Given the description of an element on the screen output the (x, y) to click on. 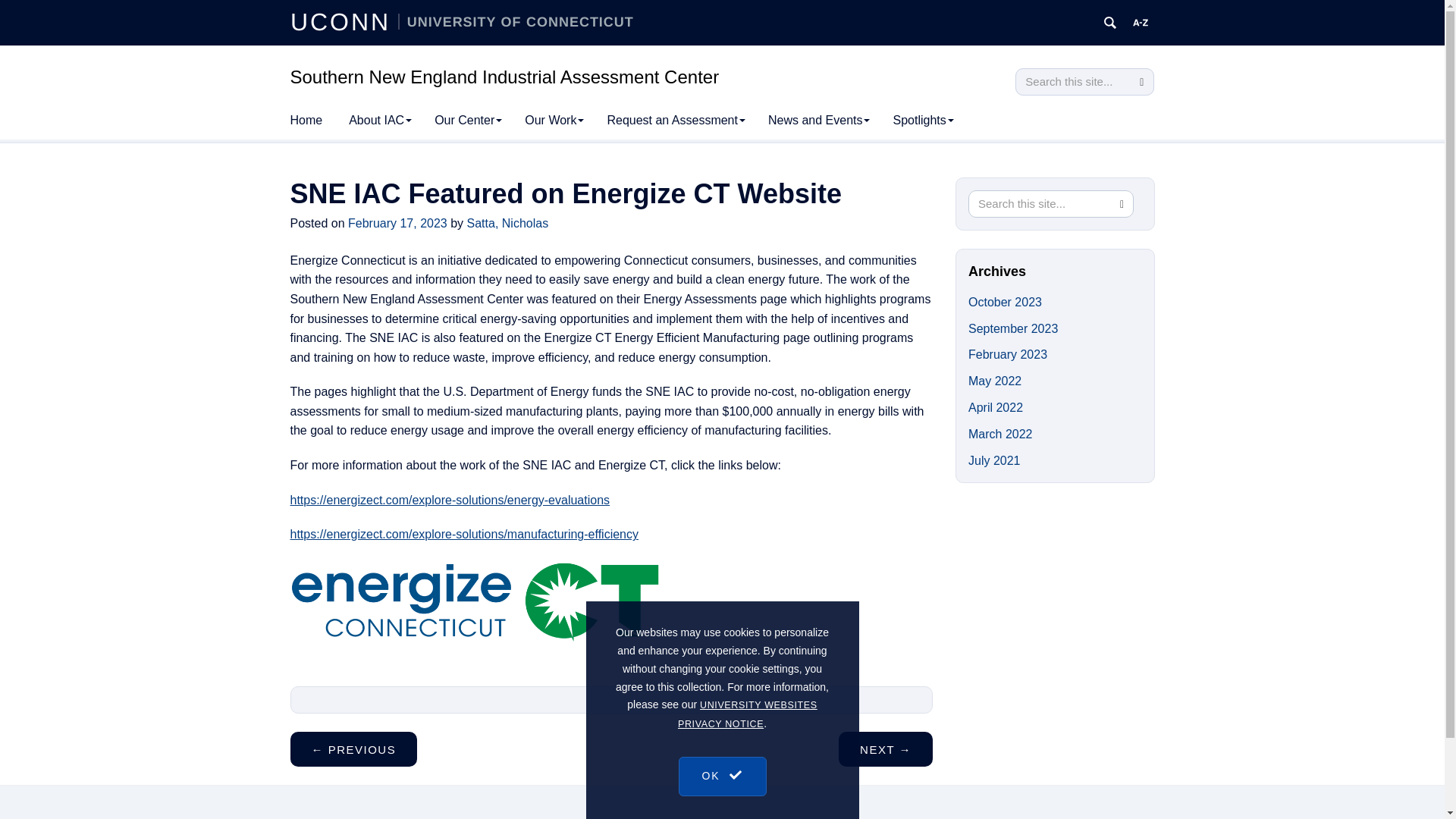
Search (1141, 81)
Search UConn (1109, 22)
About IAC (380, 120)
Request an Assessment (676, 120)
Home (306, 120)
News and Events (819, 120)
Posts by Satta, Nicholas (507, 223)
UConn A to Z Index (1140, 22)
Our Center (468, 120)
